Given the description of an element on the screen output the (x, y) to click on. 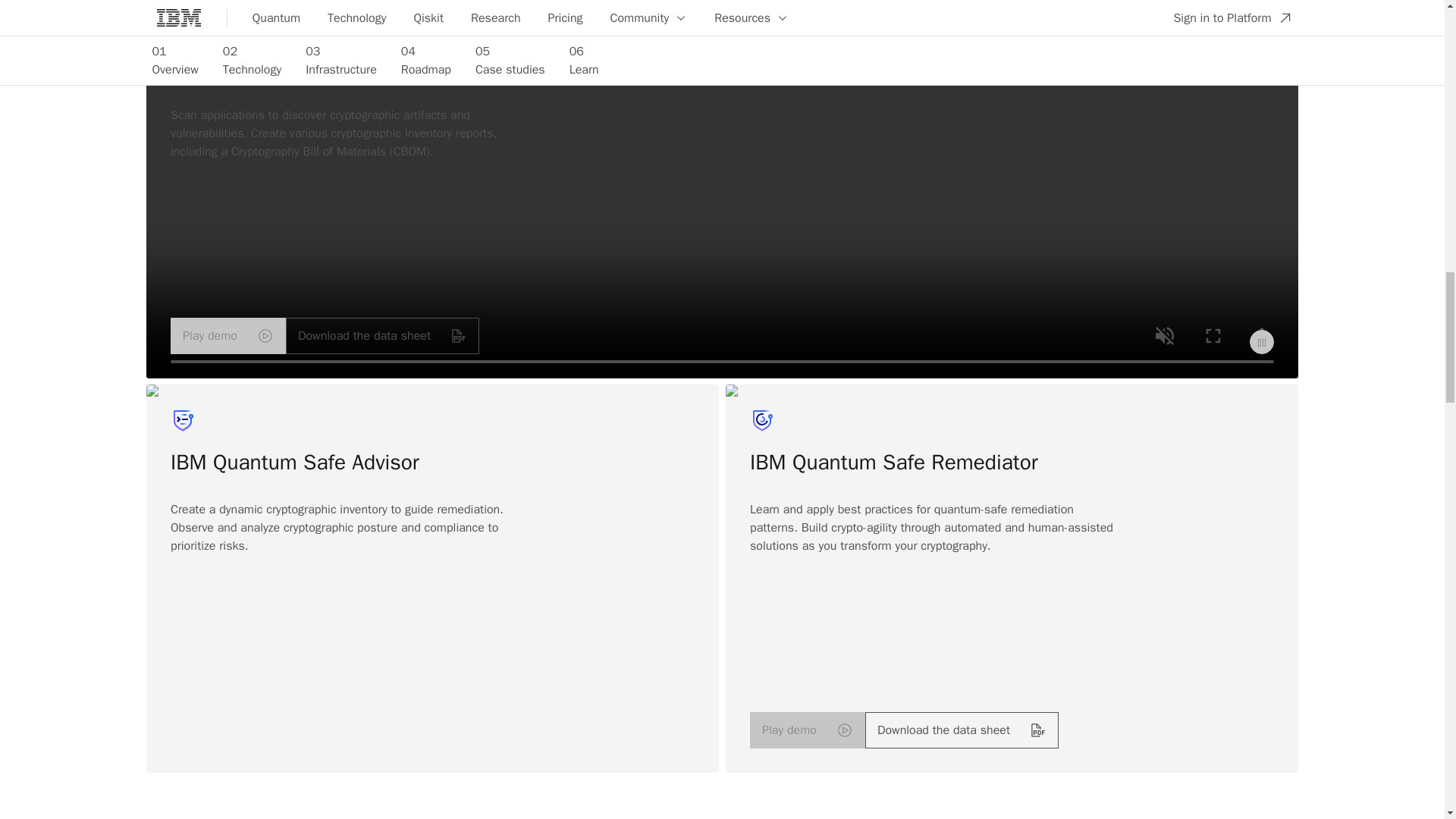
Play demo (806, 729)
Play demo (227, 335)
Download the data sheet (961, 729)
Download the data sheet (382, 335)
